Given the description of an element on the screen output the (x, y) to click on. 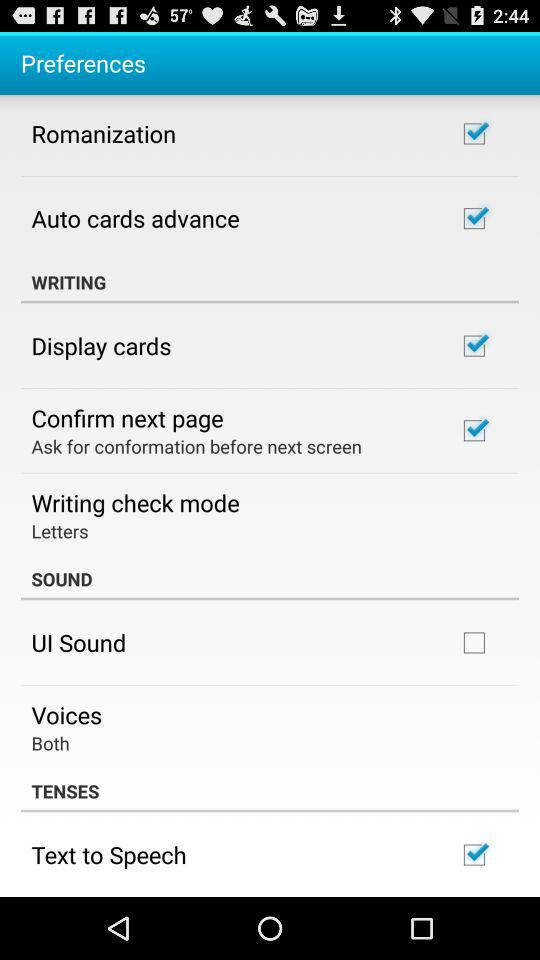
swipe to text to speech app (108, 854)
